Given the description of an element on the screen output the (x, y) to click on. 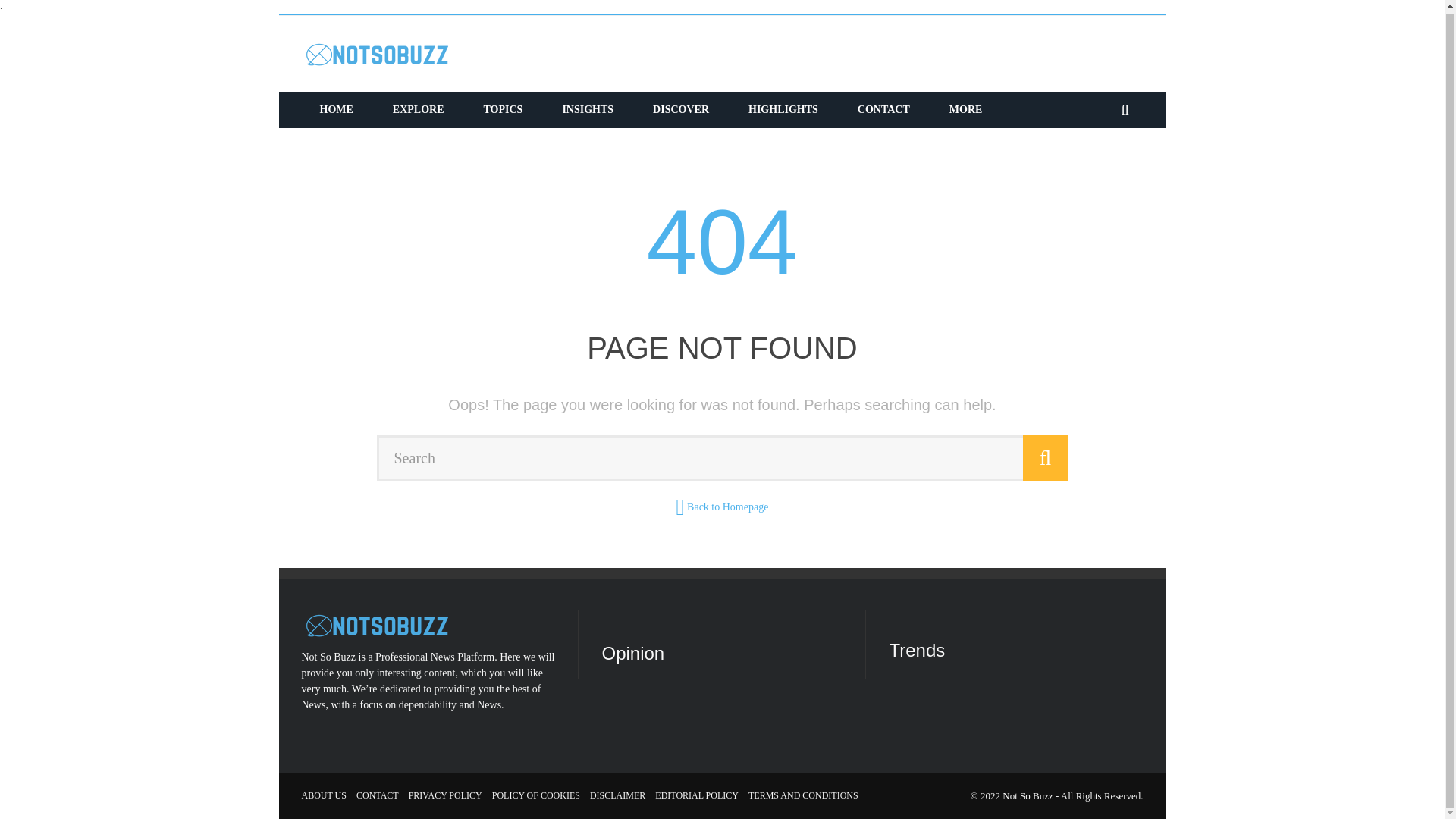
INSIGHTS (587, 109)
EDITORIAL POLICY (696, 795)
CONTACT (884, 109)
TERMS AND CONDITIONS (803, 795)
CONTACT (377, 795)
HOME (336, 109)
POLICY OF COOKIES (535, 795)
EXPLORE (418, 109)
DISCOVER (680, 109)
ABOUT US (323, 795)
Not So Buzz (1027, 795)
HIGHLIGHTS (782, 109)
MORE (966, 109)
PRIVACY POLICY (445, 795)
TOPICS (503, 109)
